Given the description of an element on the screen output the (x, y) to click on. 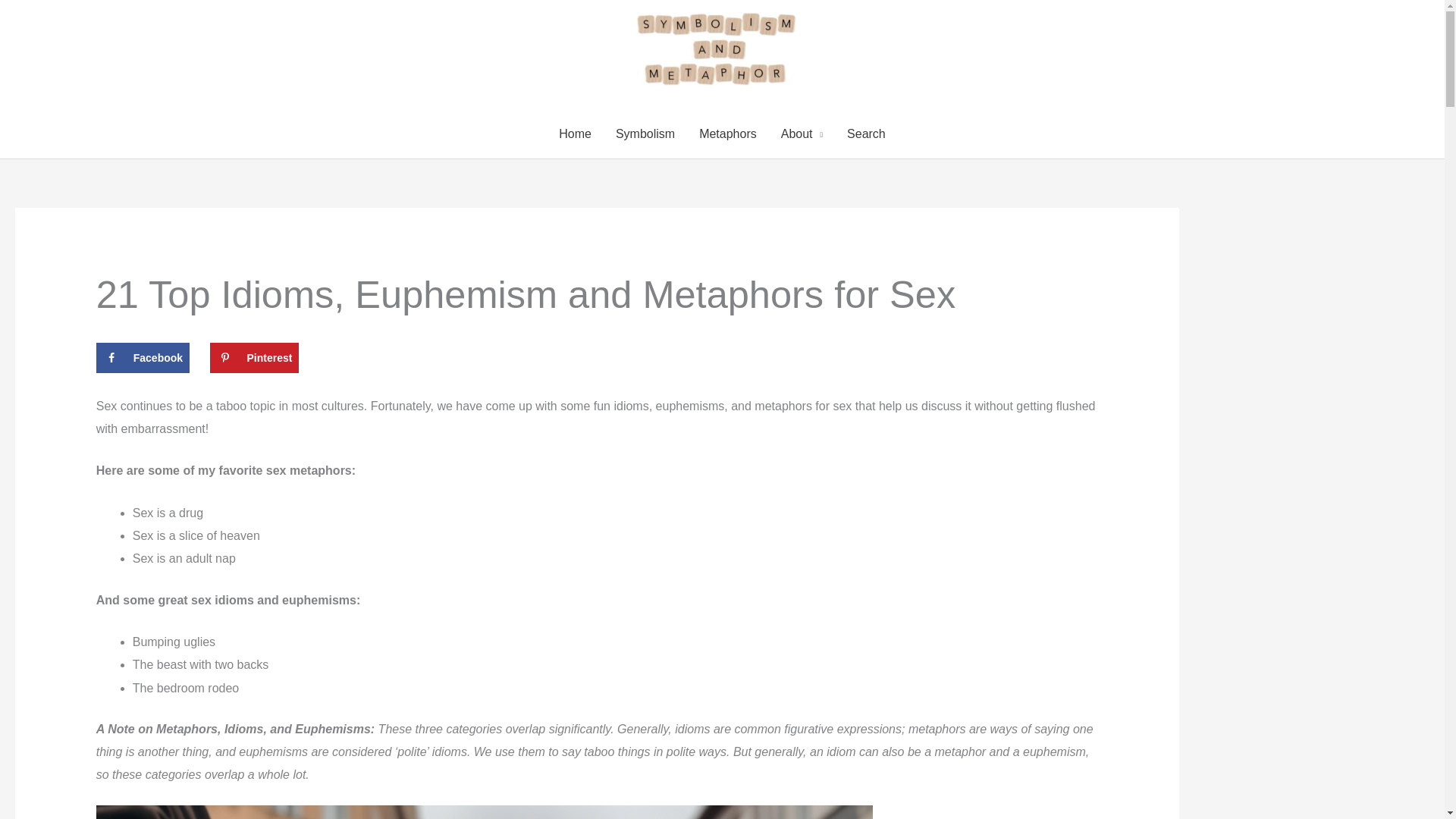
Share on Facebook (142, 358)
Search (866, 133)
Home (575, 133)
Symbolism (645, 133)
About (801, 133)
Save to Pinterest (253, 358)
Pinterest (253, 358)
Metaphors (727, 133)
Facebook (142, 358)
